Given the description of an element on the screen output the (x, y) to click on. 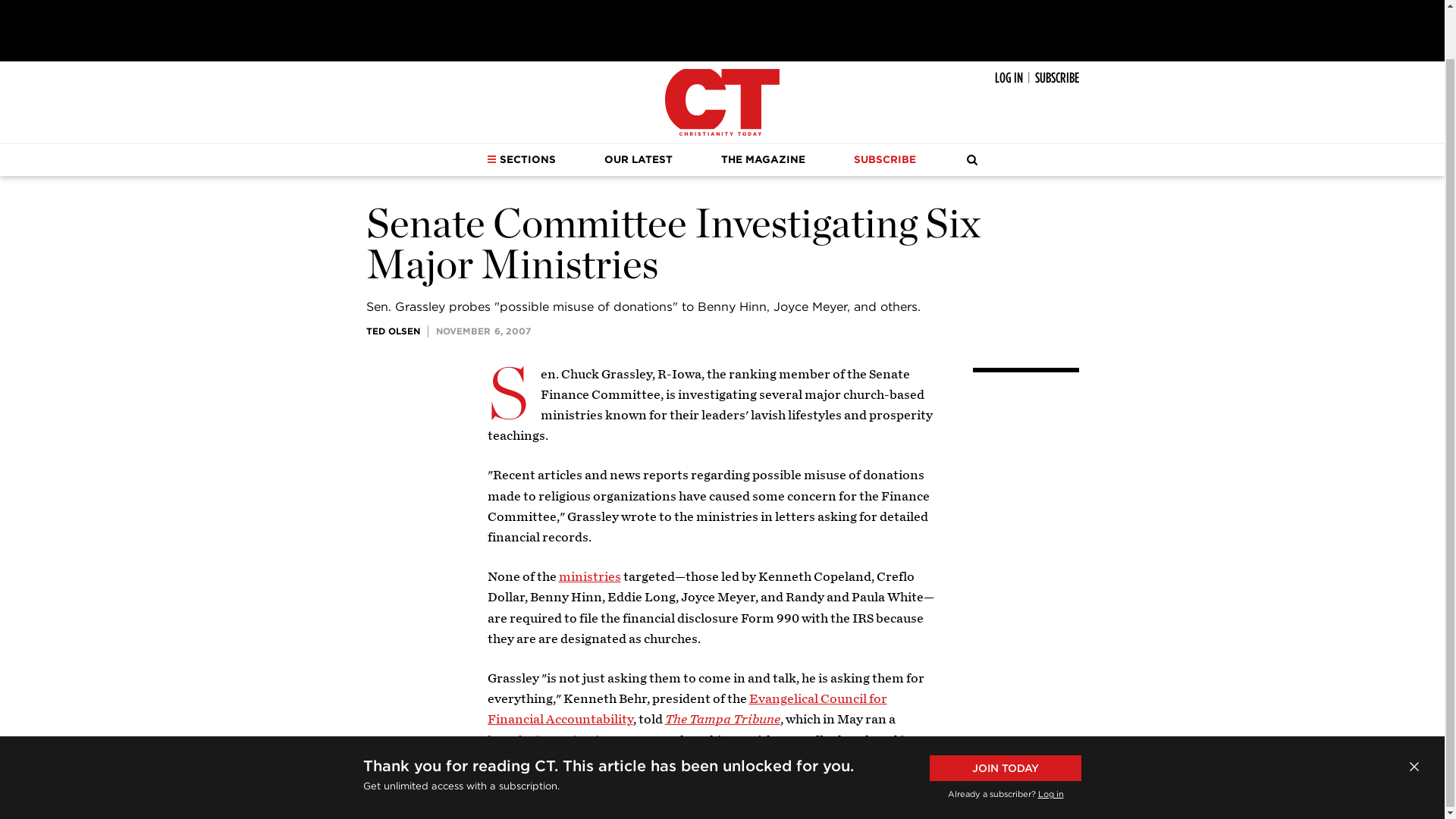
LOG IN (1008, 77)
SUBSCRIBE (1055, 77)
Sections Dropdown (491, 158)
Christianity Today (721, 101)
3rd party ad content (721, 27)
SECTIONS (521, 160)
